Given the description of an element on the screen output the (x, y) to click on. 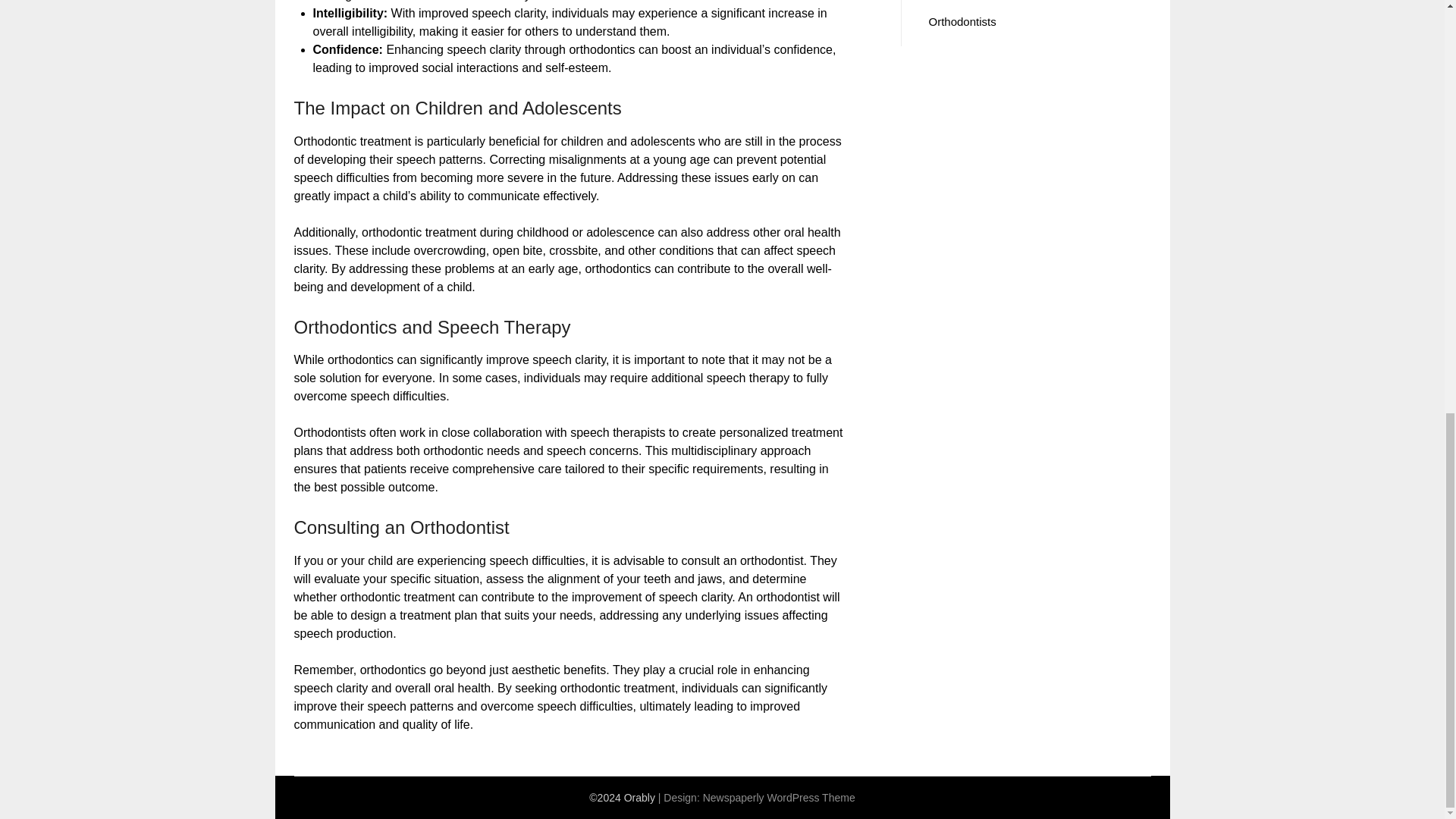
Orthodontists (961, 21)
Newspaperly WordPress Theme (779, 797)
